Given the description of an element on the screen output the (x, y) to click on. 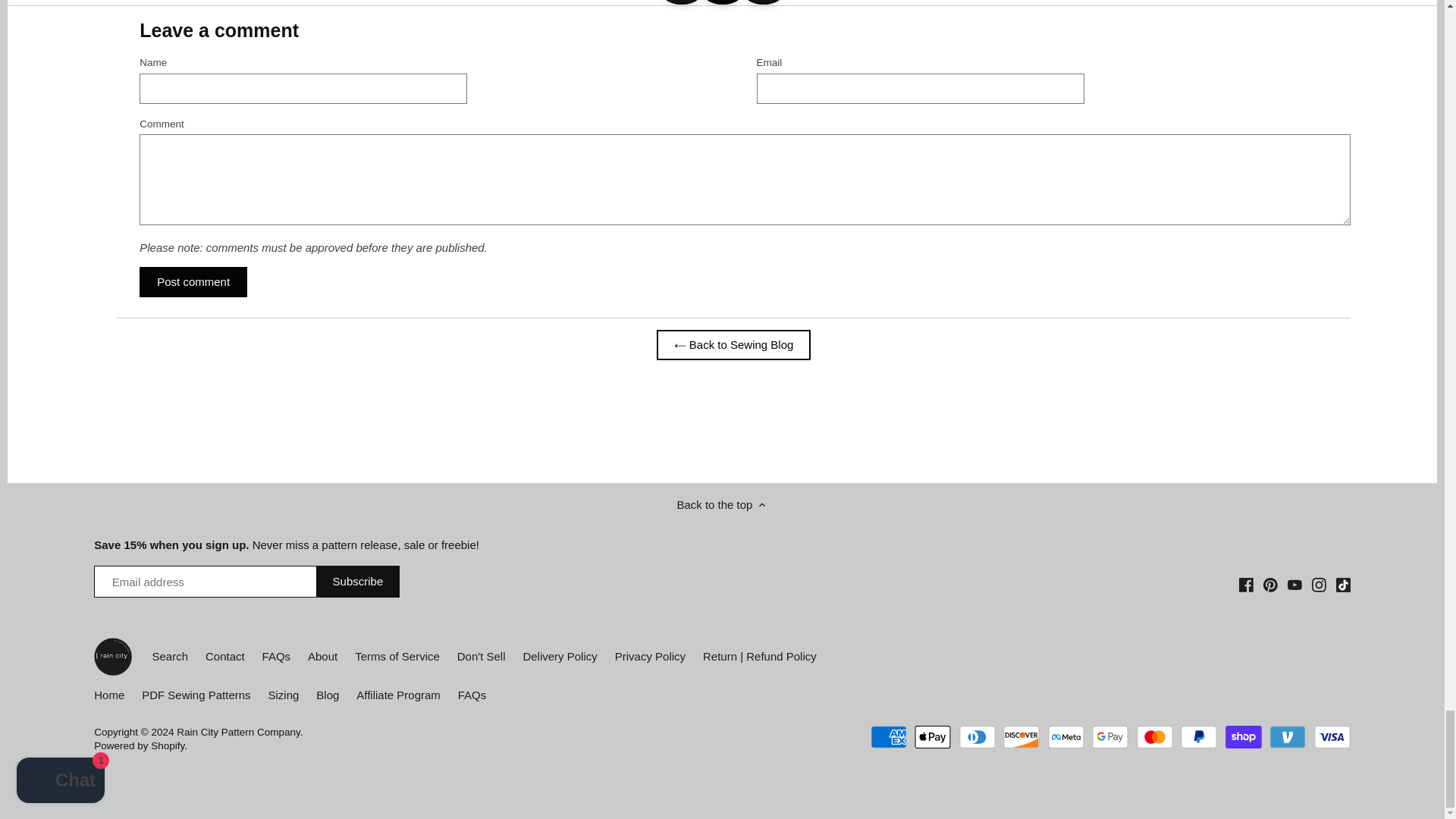
Instagram (1318, 583)
Youtube (1294, 585)
Subscribe (357, 581)
Post comment (193, 281)
Facebook (1246, 585)
Youtube (1294, 583)
Pinterest (1269, 585)
Facebook (1246, 583)
Pinterest (1270, 583)
